Given the description of an element on the screen output the (x, y) to click on. 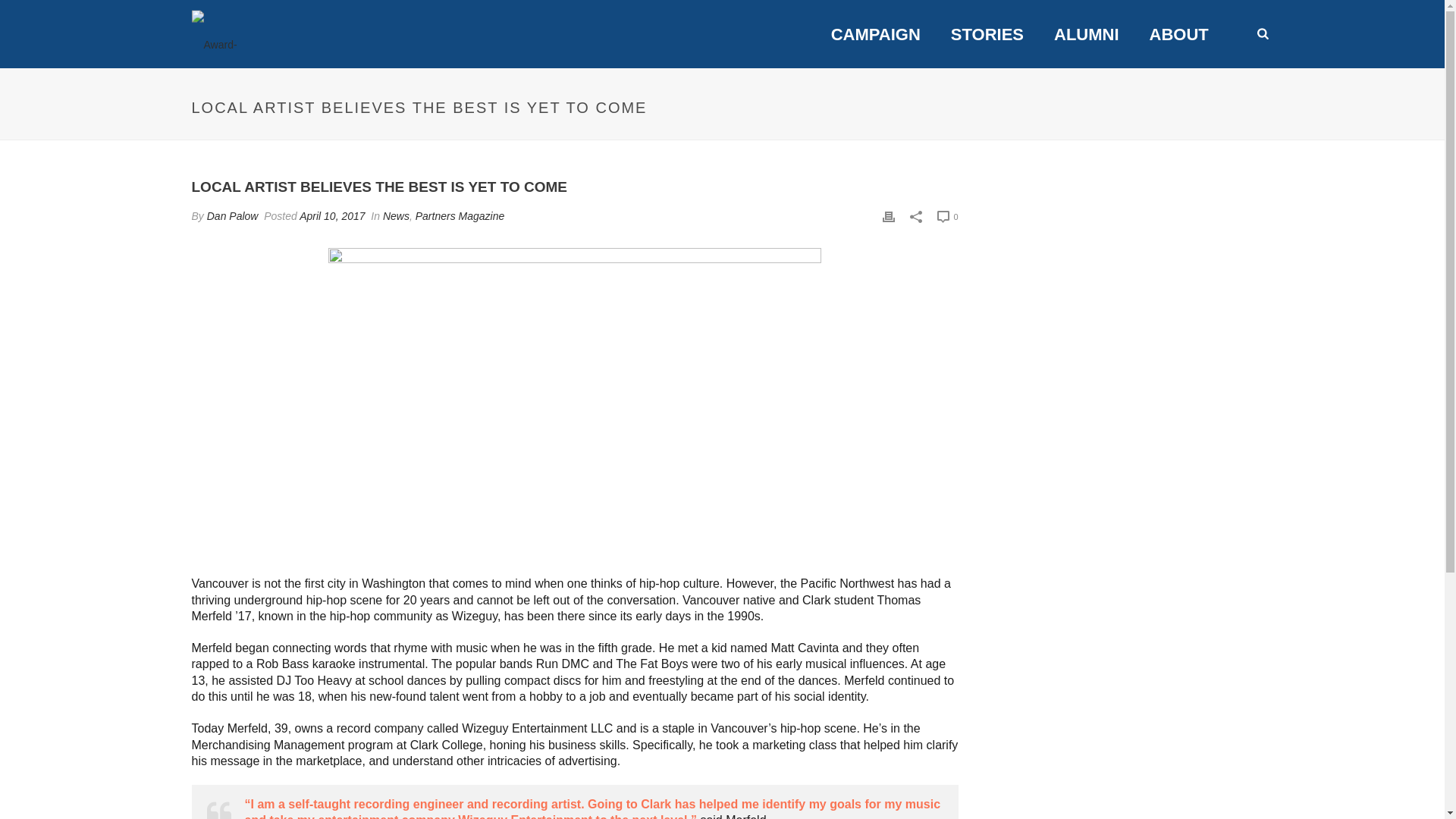
STORIES (987, 34)
CAMPAIGN (875, 34)
April 10, 2017 (332, 215)
Posts by Dan Palow (232, 215)
ALUMNI (1086, 34)
ABOUT (1179, 34)
0 (947, 217)
News (395, 215)
Dan Palow (232, 215)
STORIES (987, 34)
ABOUT (1179, 34)
Partners Magazine (459, 215)
ALUMNI (1086, 34)
CAMPAIGN (875, 34)
